Given the description of an element on the screen output the (x, y) to click on. 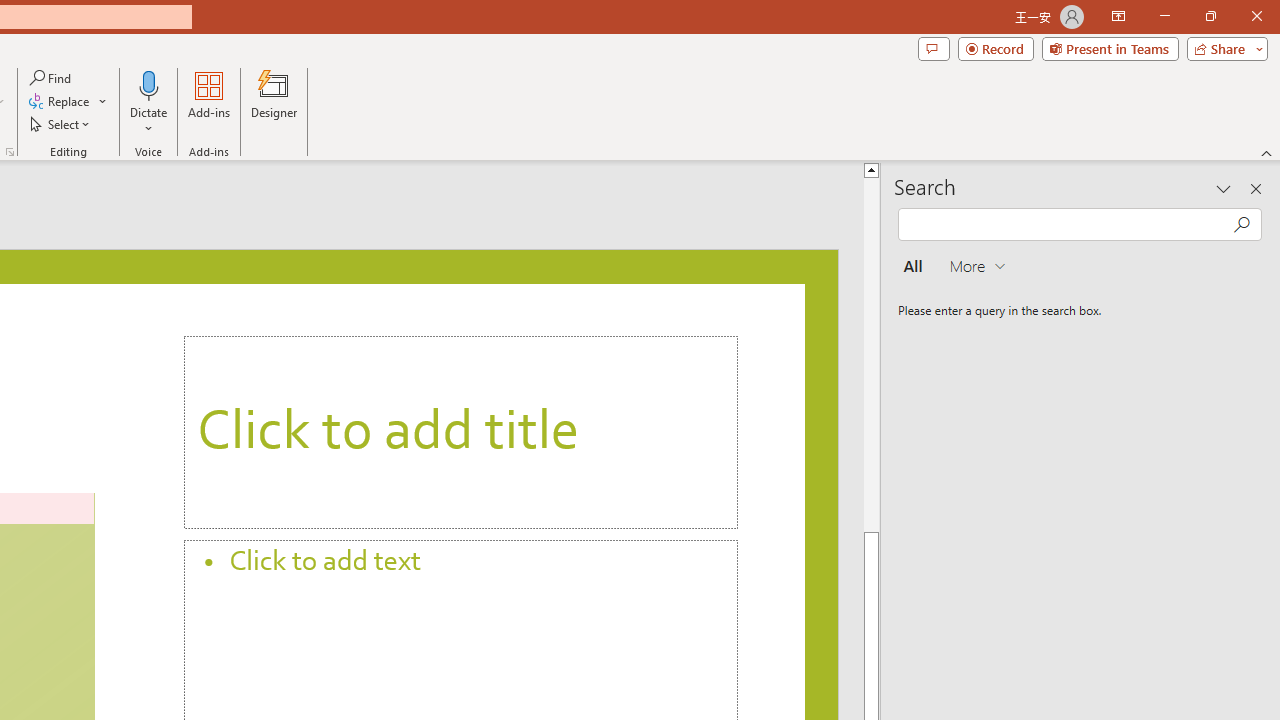
Format Object... (9, 151)
Dictate (149, 102)
Find... (51, 78)
Replace... (60, 101)
Line up (873, 169)
Page up (873, 354)
Designer (274, 102)
Share (1223, 48)
Close (1256, 16)
Restore Down (1210, 16)
Task Pane Options (1224, 188)
Collapse the Ribbon (1267, 152)
Minimize (1164, 16)
Select (61, 124)
